Given the description of an element on the screen output the (x, y) to click on. 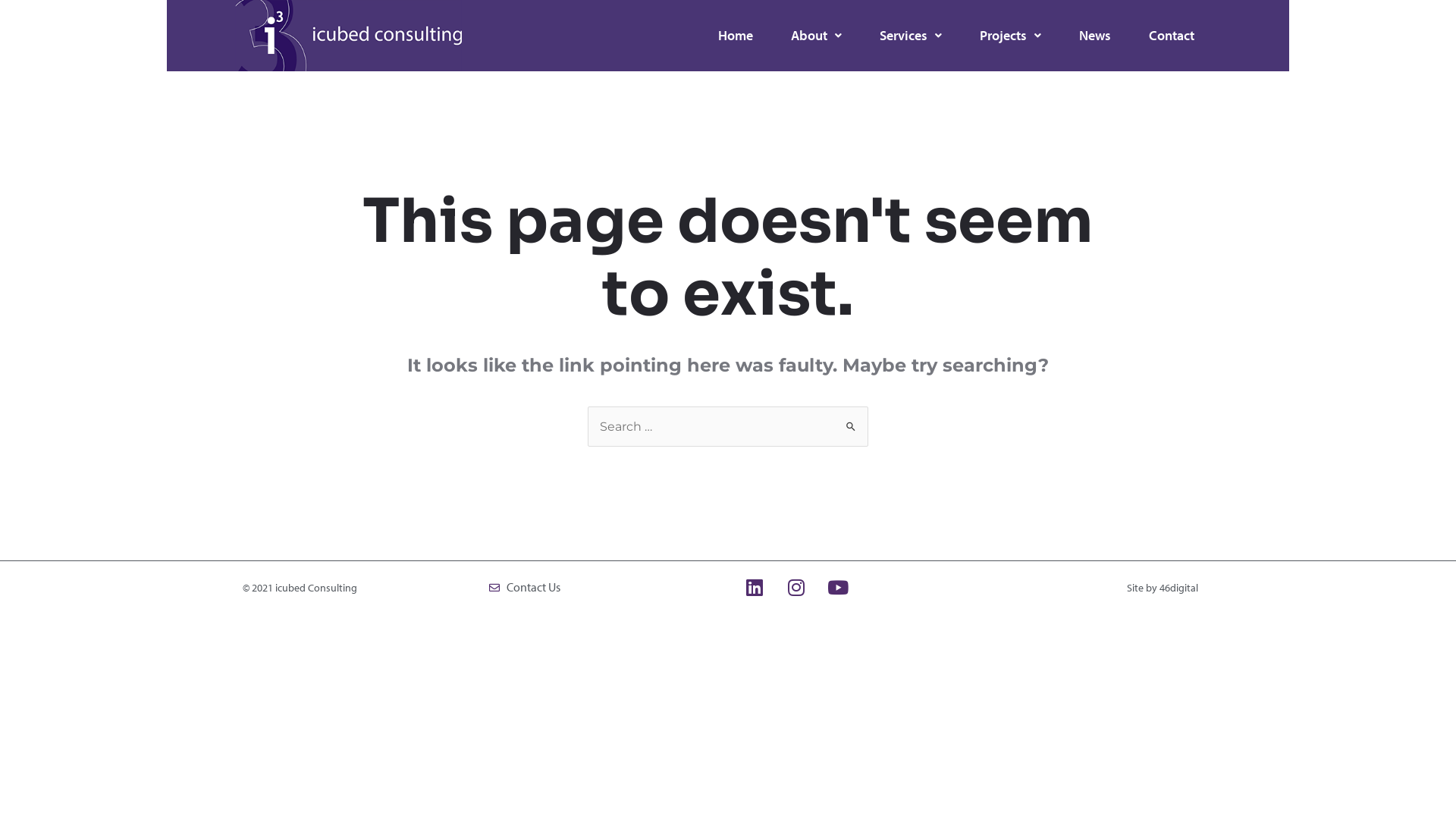
Instagram Element type: text (796, 587)
News Element type: text (1094, 35)
Search Element type: text (851, 421)
Linkedin Element type: text (754, 587)
About Element type: text (815, 35)
Contact Us Element type: text (604, 587)
Youtube Element type: text (837, 587)
Projects Element type: text (1010, 35)
Services Element type: text (910, 35)
Contact Element type: text (1171, 35)
Home Element type: text (735, 35)
